Given the description of an element on the screen output the (x, y) to click on. 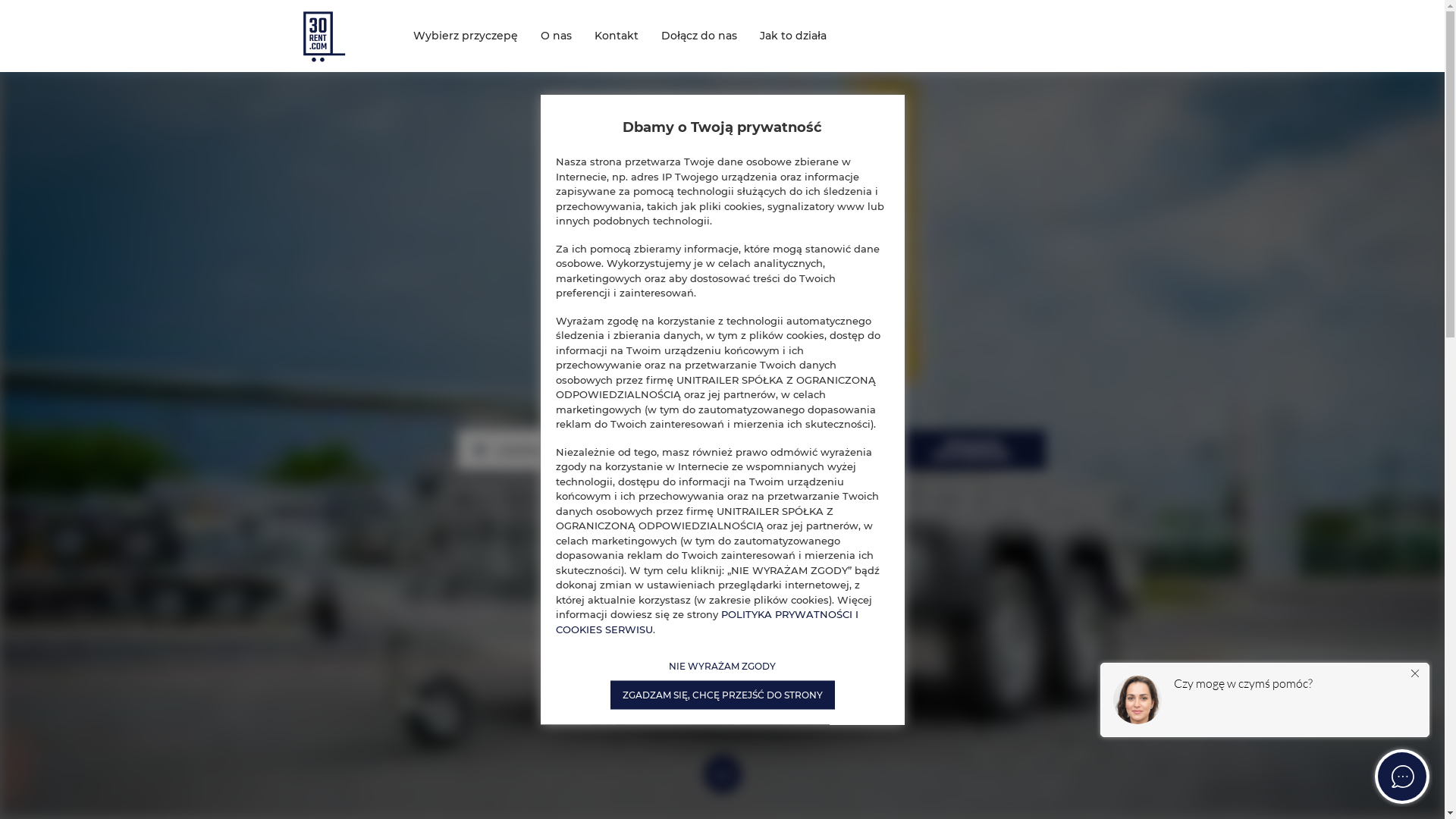
Kontakt Element type: text (615, 35)
O nas Element type: text (556, 35)
Thulium Click2Contact Element type: hover (1262, 732)
